Given the description of an element on the screen output the (x, y) to click on. 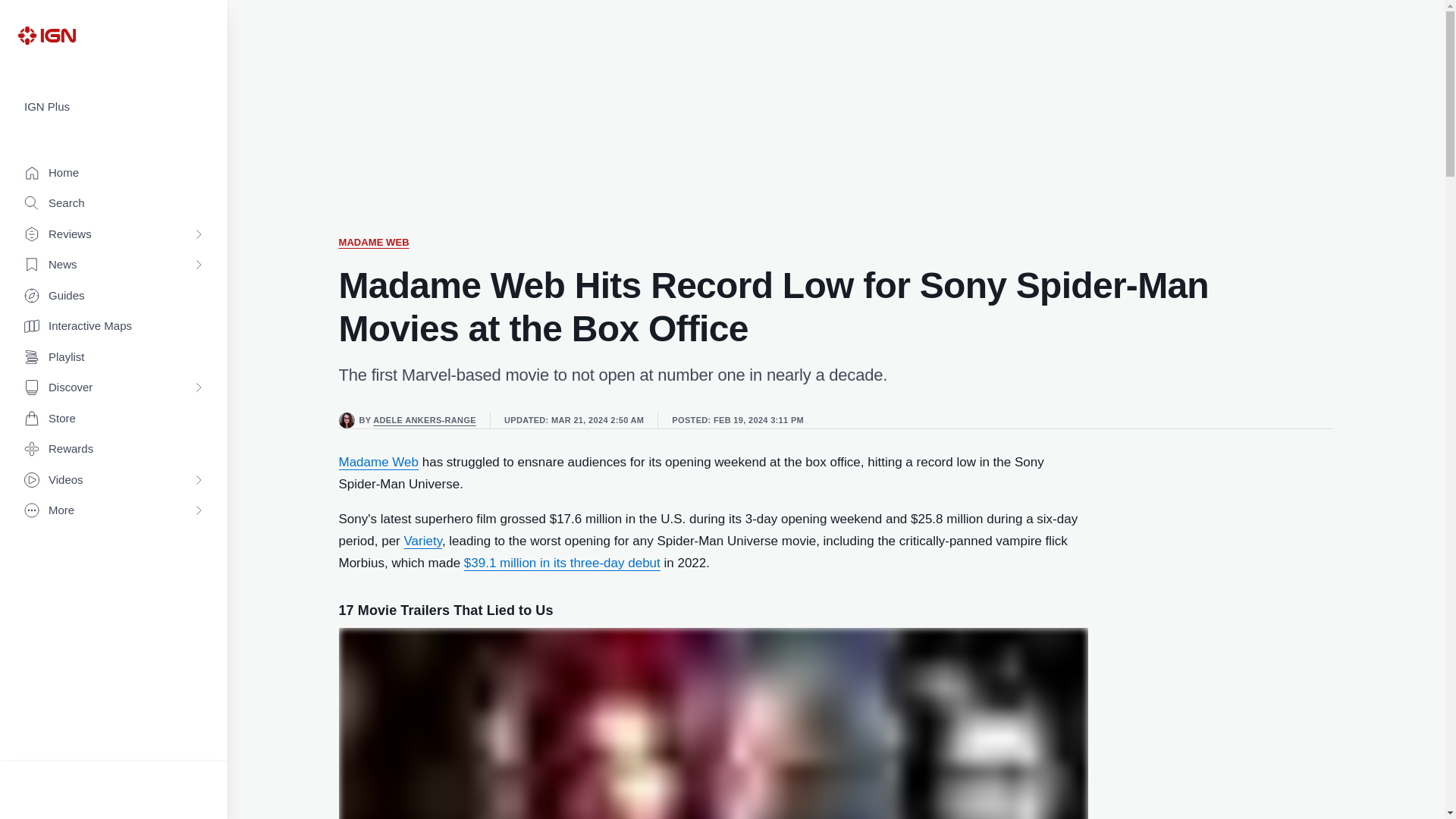
Interactive Maps (113, 326)
Search (113, 203)
IGN Logo (46, 34)
Reviews (113, 234)
Reviews (113, 234)
Home (113, 172)
Interactive Maps (113, 326)
Playlist (113, 357)
Videos (113, 480)
Search (113, 203)
